Given the description of an element on the screen output the (x, y) to click on. 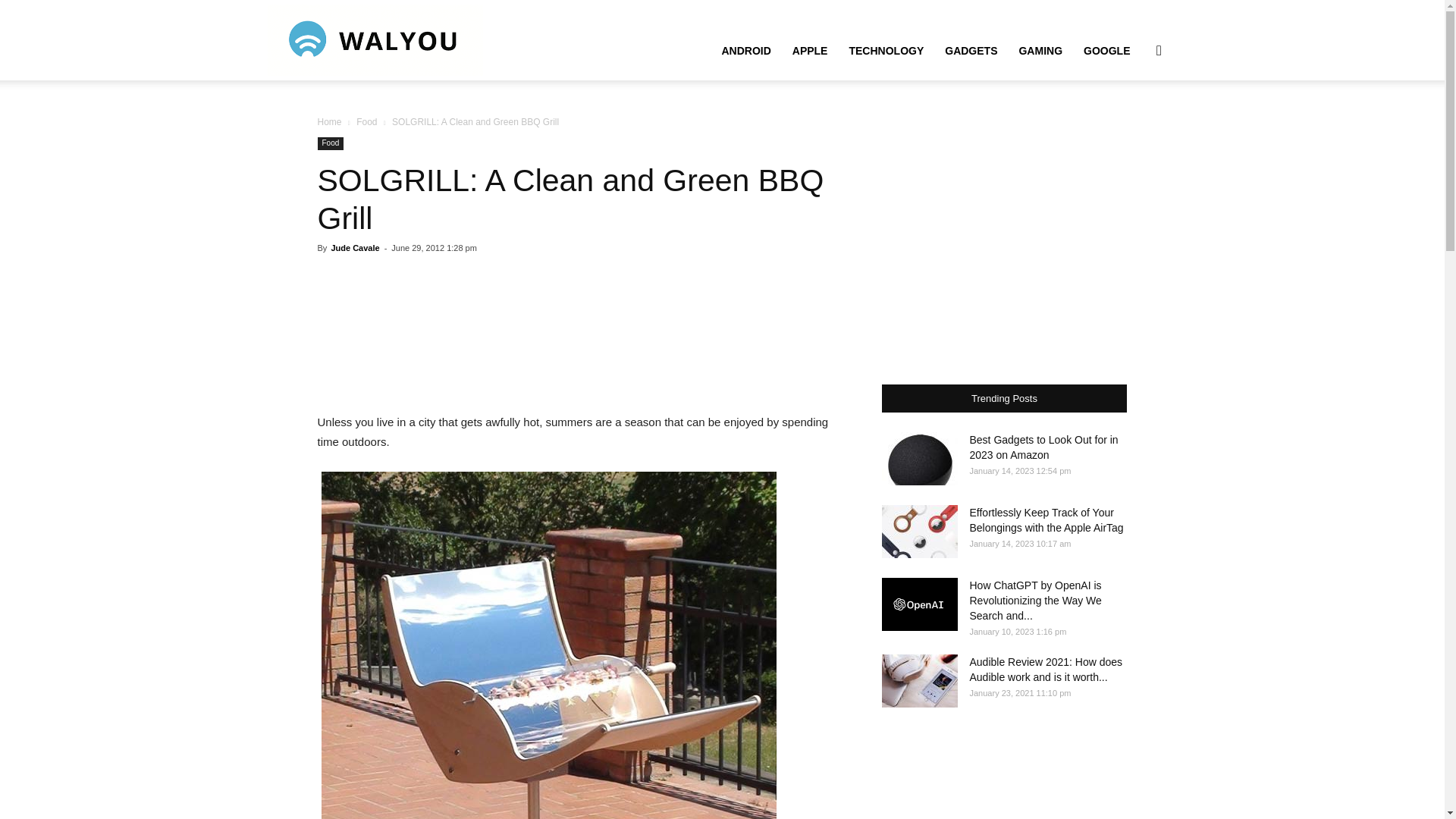
View all posts in Food (366, 122)
TECHNOLOGY (886, 50)
Food (366, 122)
GOOGLE (1106, 50)
Jude Cavale (354, 247)
APPLE (809, 50)
Walyou (373, 40)
Home (328, 122)
Search (1134, 122)
Advertisement (580, 333)
